Given the description of an element on the screen output the (x, y) to click on. 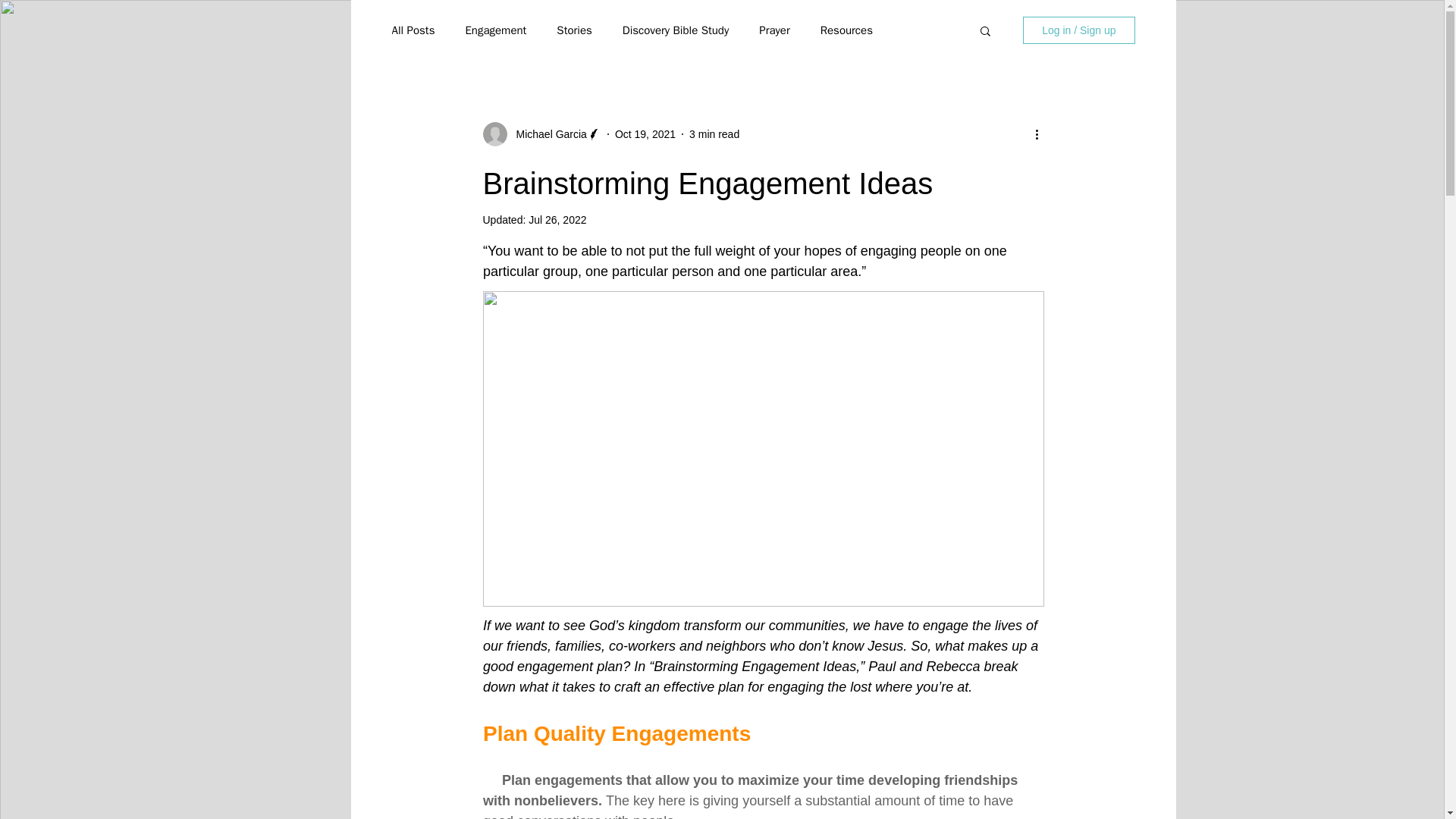
All Posts (412, 29)
Engagement (494, 29)
Prayer (773, 29)
Michael Garcia (546, 133)
Resources (846, 29)
Stories (573, 29)
Oct 19, 2021 (644, 133)
Discovery Bible Study (676, 29)
3 min read (713, 133)
Michael Garcia (540, 134)
